Given the description of an element on the screen output the (x, y) to click on. 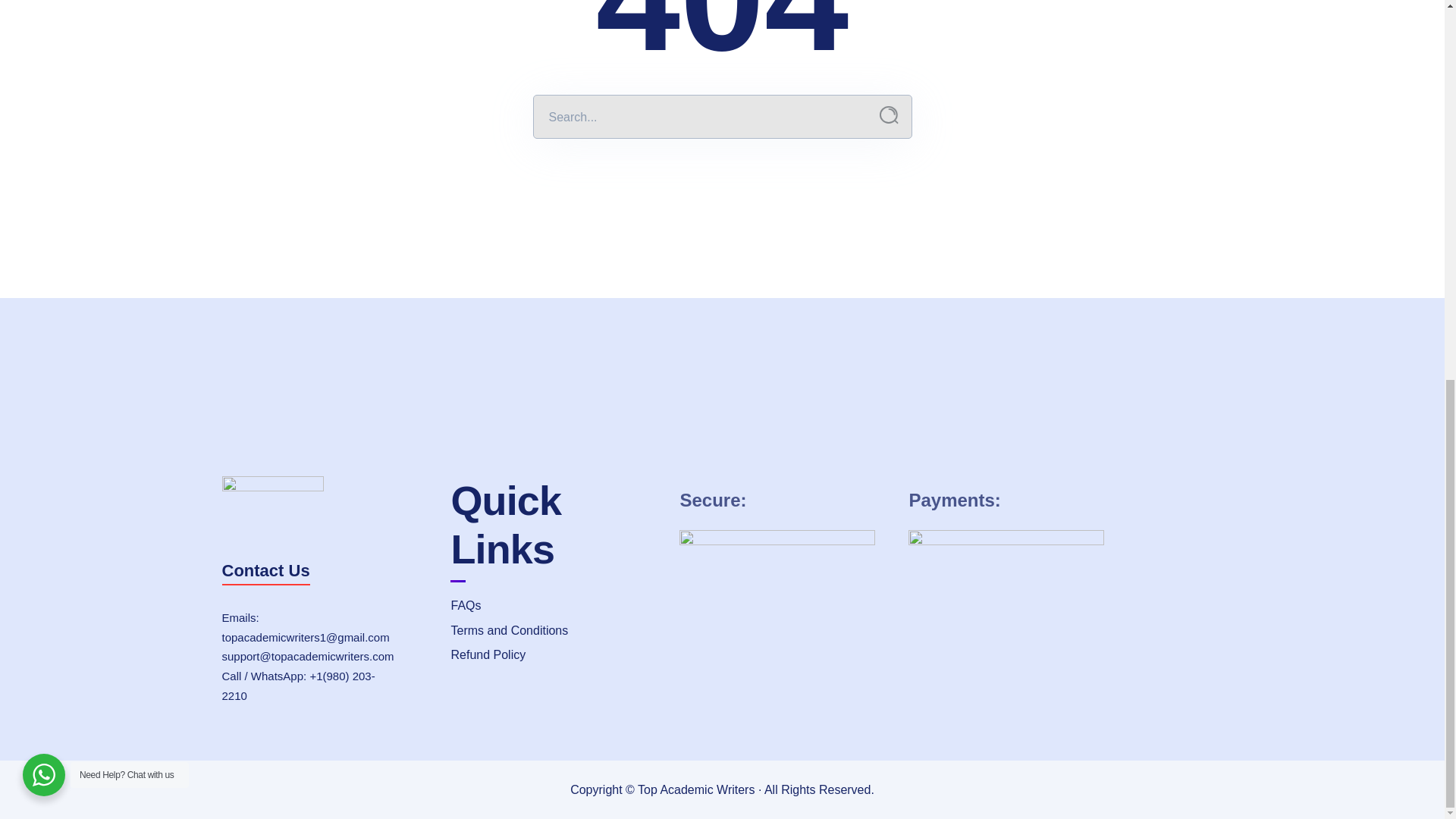
Search... (888, 115)
Terms and Conditions (552, 630)
Refund Policy (552, 655)
FAQs (552, 605)
